Given the description of an element on the screen output the (x, y) to click on. 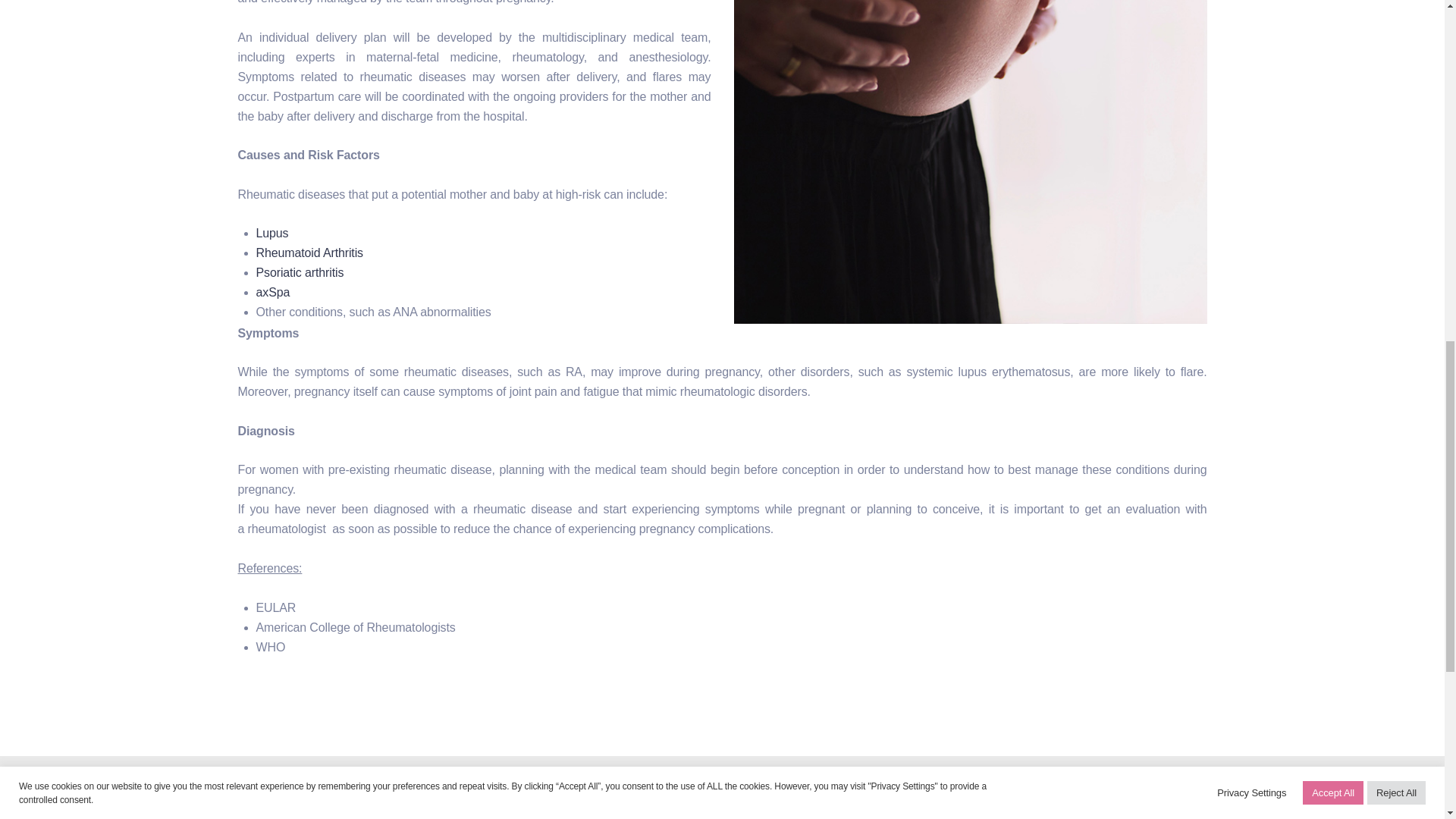
Lupus (272, 232)
axSpa (272, 291)
Rheumatoid Arthritis (309, 252)
Psoriatic arthritis (299, 272)
